Given the description of an element on the screen output the (x, y) to click on. 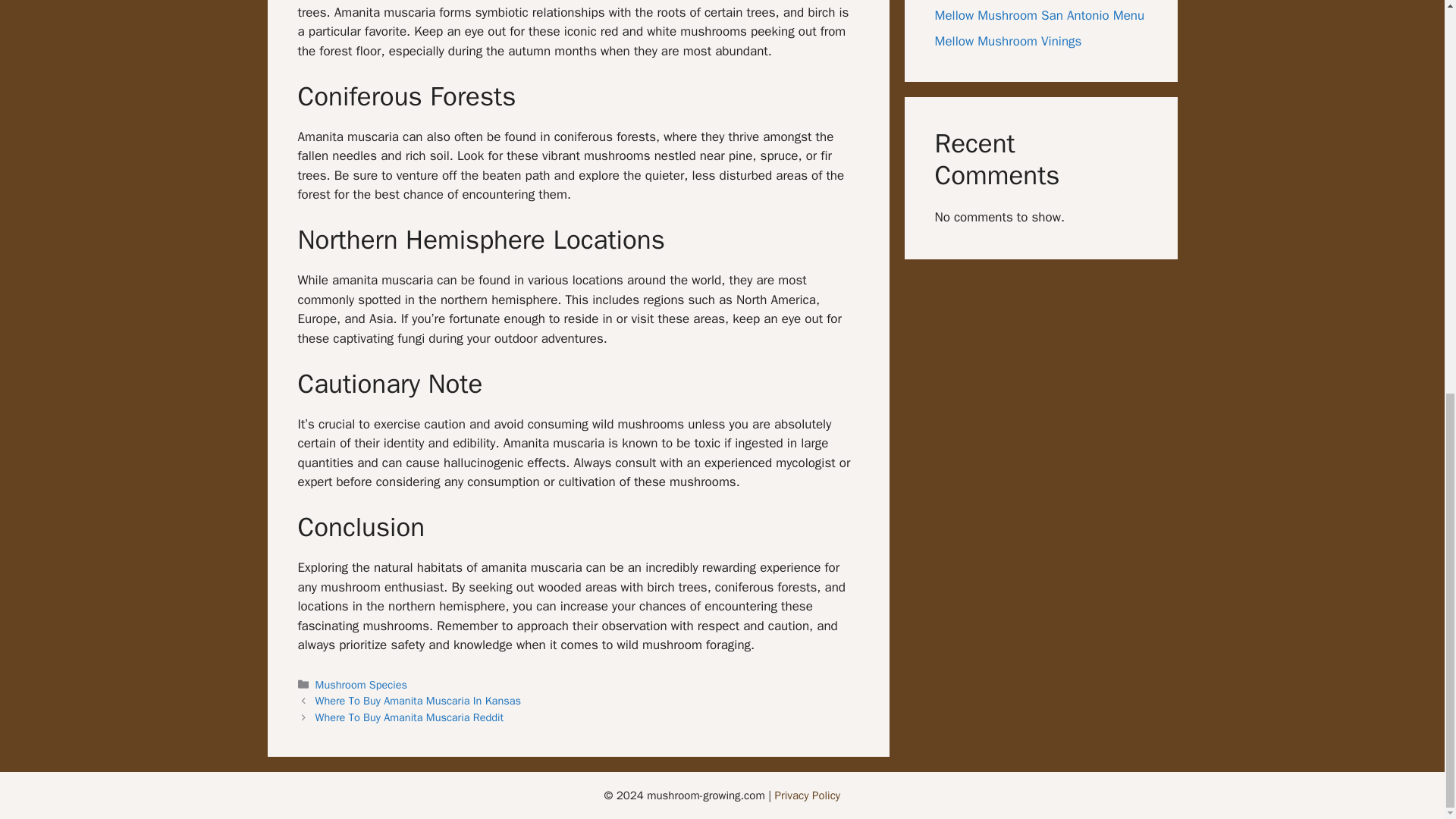
Privacy Policy (807, 795)
Where To Buy Amanita Muscaria In Kansas (418, 700)
Mellow Mushroom Vinings (1007, 41)
Where To Buy Amanita Muscaria Reddit (409, 716)
Mushroom Species (361, 684)
Mellow Mushroom San Antonio Menu (1039, 15)
